Given the description of an element on the screen output the (x, y) to click on. 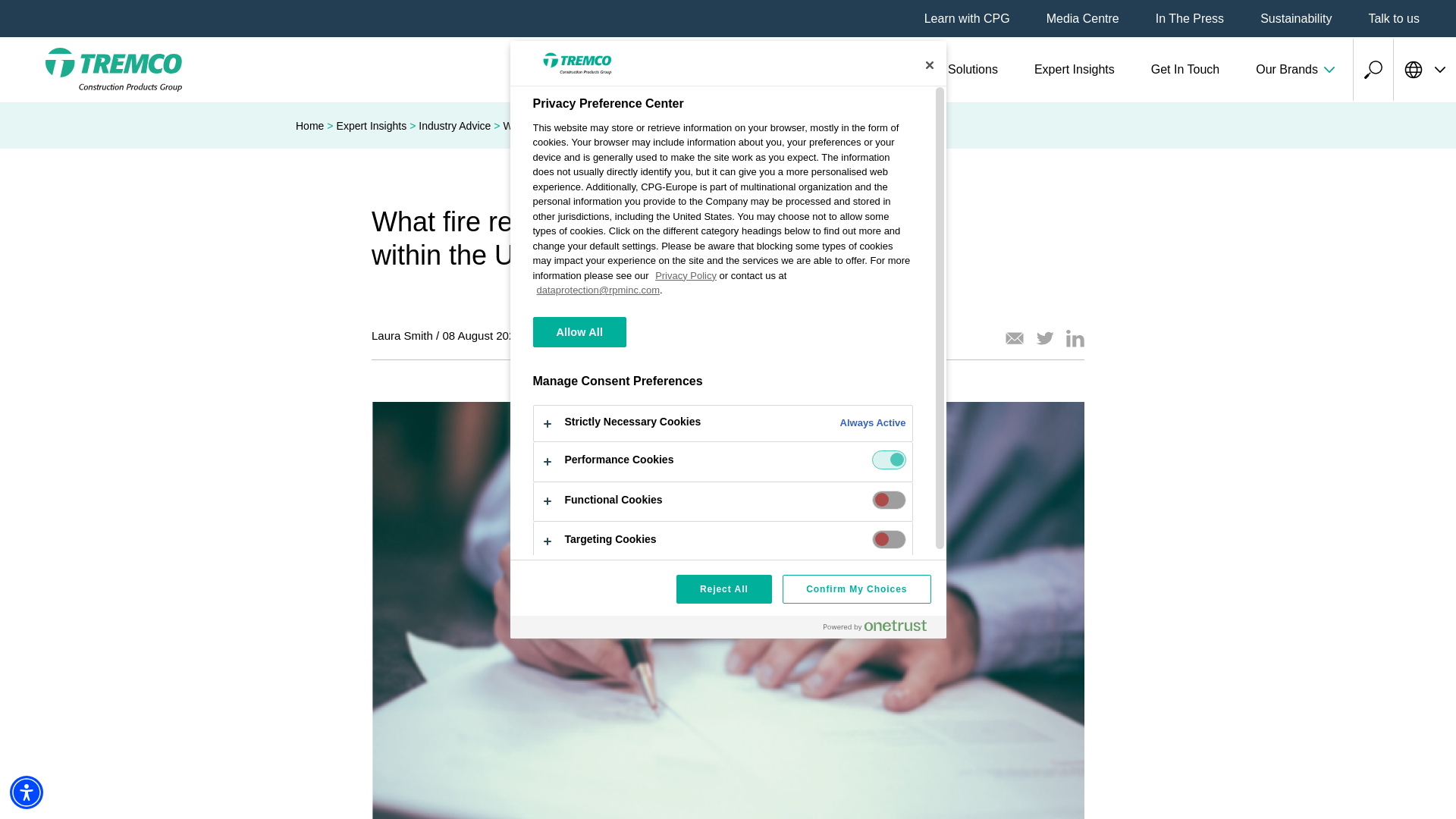
Expert Insights (1074, 69)
Our Brands (1295, 69)
Accessibility Menu (26, 792)
Learn with CPG (967, 18)
Sustainability (1296, 18)
Powered by OneTrust Opens in a new Tab (875, 625)
Reject All Confirm My Choices (726, 598)
Media Centre (1082, 18)
Get In Touch (1185, 69)
In The Press (1190, 18)
